Given the description of an element on the screen output the (x, y) to click on. 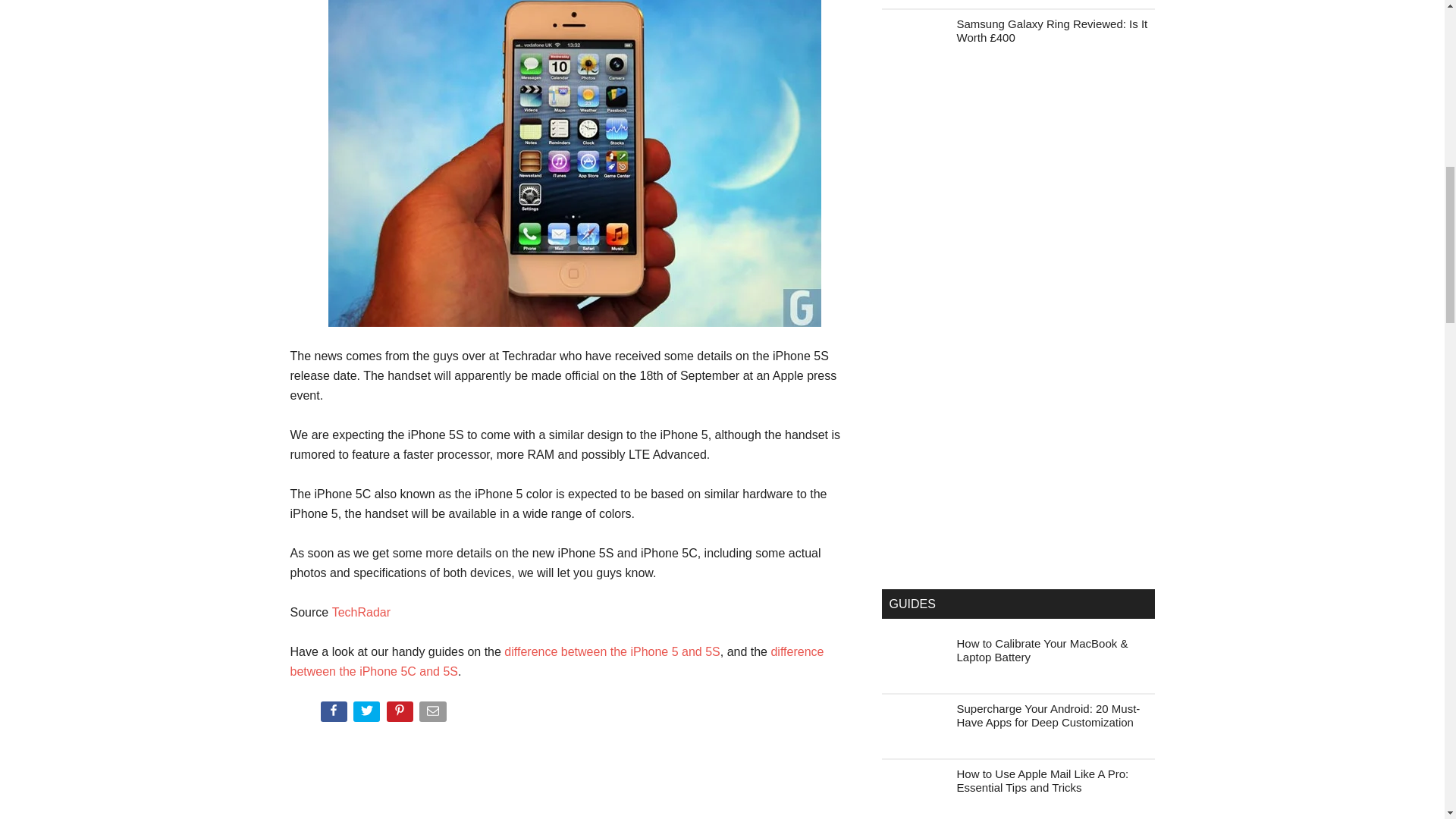
difference between the iPhone 5 and 5S (611, 651)
difference between the iPhone 5C and 5S (556, 661)
Pin (401, 714)
Email (433, 714)
difference between iPhone 5c and 5S (556, 661)
Share on Facebook (334, 714)
difference between iphone5 and 5s (611, 651)
TechRadar (360, 612)
Tweet (367, 714)
